Given the description of an element on the screen output the (x, y) to click on. 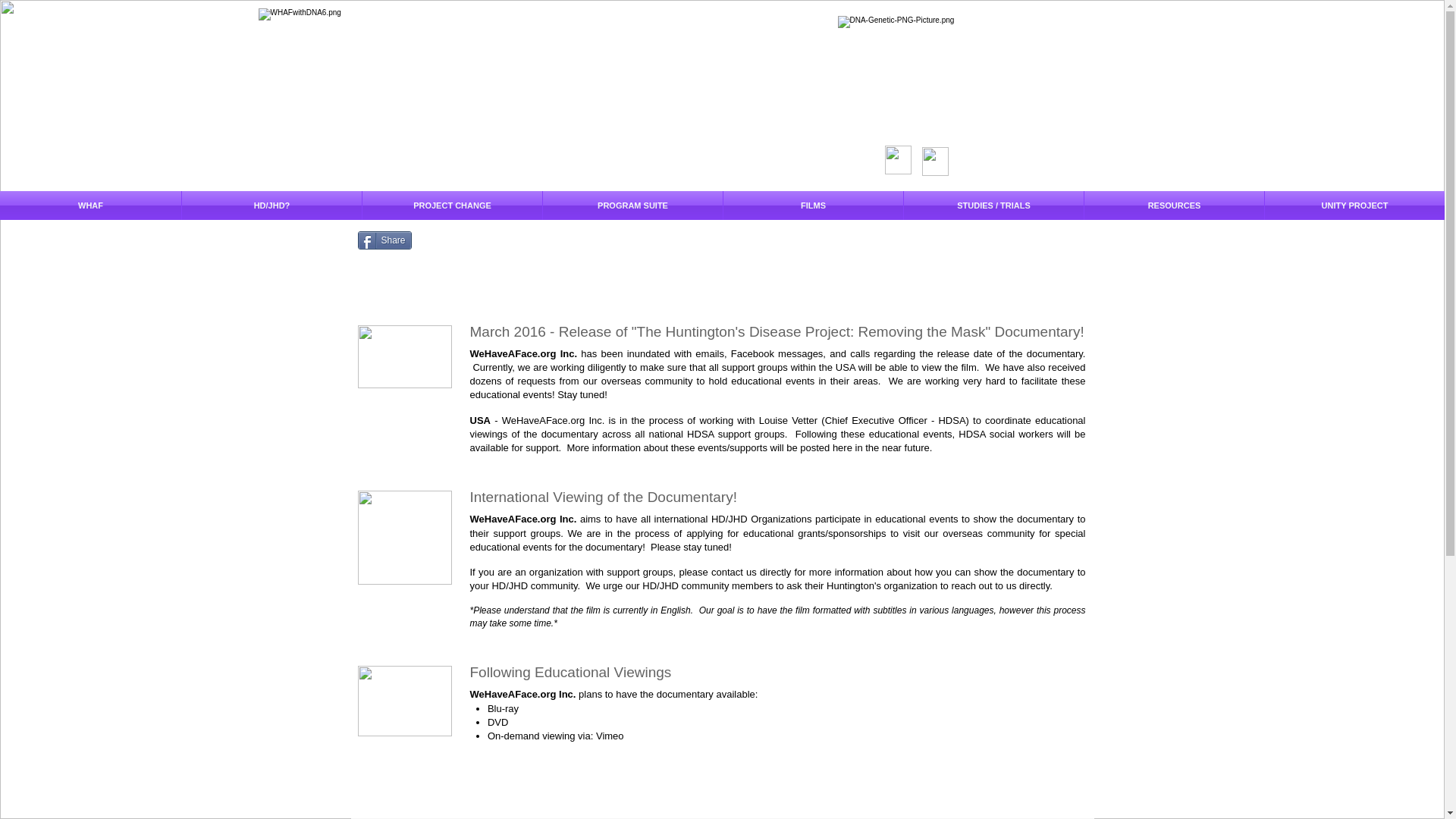
See the Trailer! (404, 356)
RESOURCES (1173, 205)
Share (385, 239)
FILMS (812, 205)
PROGRAM SUITE (632, 205)
Share (385, 239)
Facebook Like (455, 240)
PROJECT CHANGE (451, 205)
Email us! (404, 537)
WHAF (90, 205)
